Given the description of an element on the screen output the (x, y) to click on. 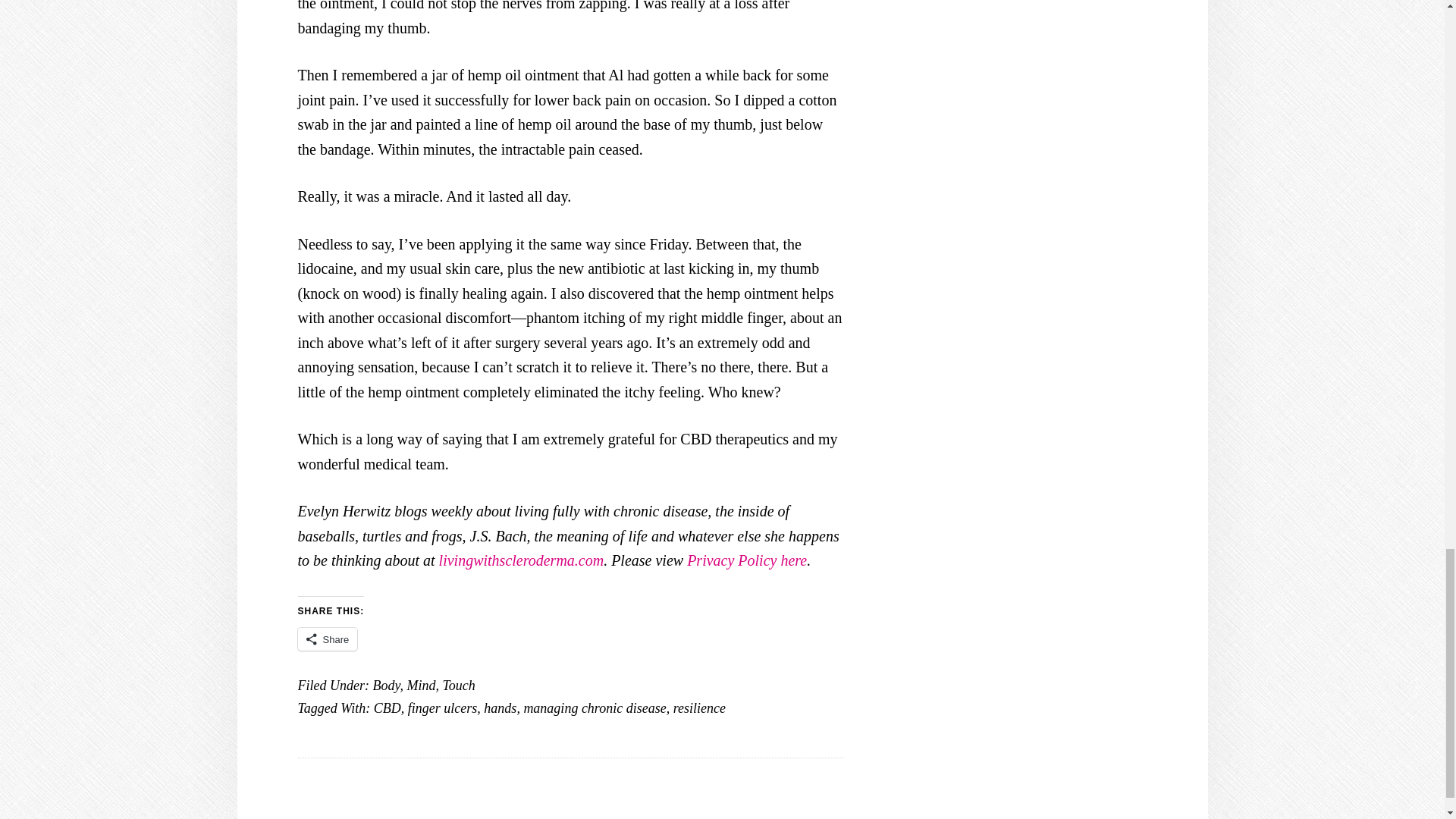
Share (326, 639)
livingwithscleroderma.com (521, 560)
Mind (420, 685)
managing chronic disease (593, 708)
CBD (387, 708)
resilience (698, 708)
Privacy Policy here (746, 560)
Touch (458, 685)
finger ulcers (442, 708)
hands (499, 708)
